Given the description of an element on the screen output the (x, y) to click on. 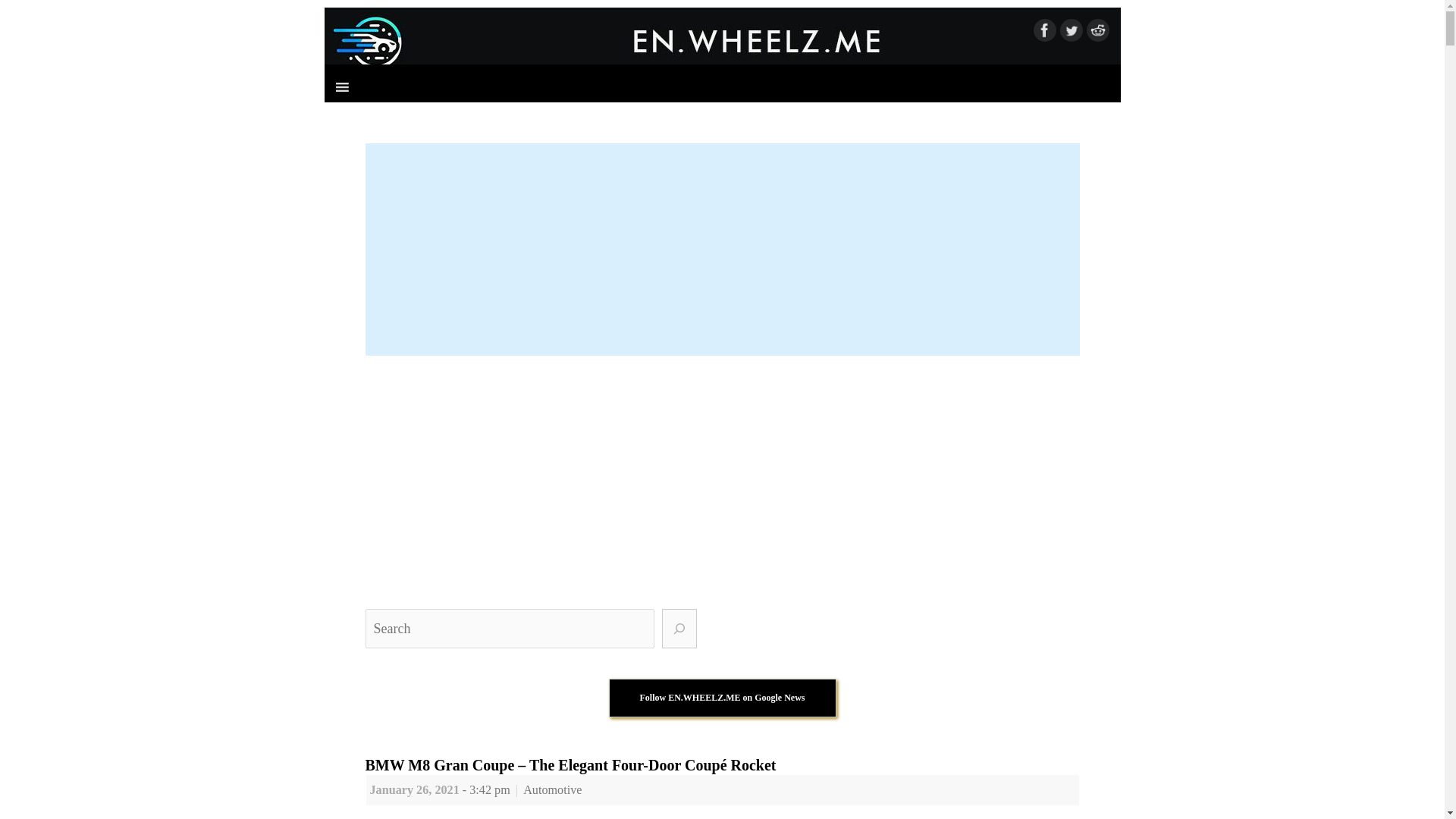
EN.WHEELZ.ME (722, 41)
3:42 pm (440, 789)
January 26, 2021 - 3:42 pm (440, 789)
Follow EN.WHEELZ.ME on Google News (721, 697)
